Given the description of an element on the screen output the (x, y) to click on. 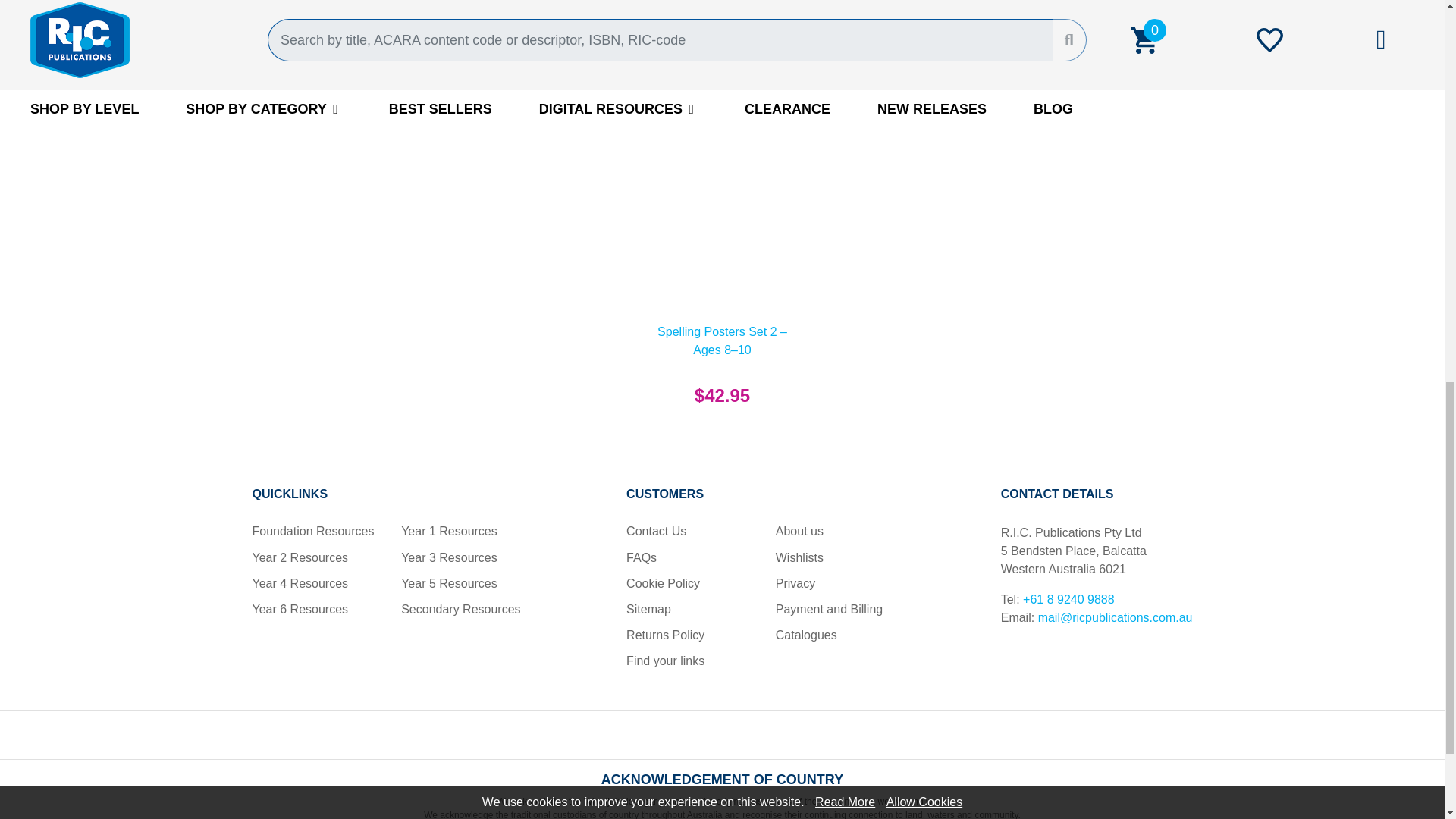
Wishlists (800, 557)
Year 5 Resources (449, 583)
Sitemap (648, 608)
Secondary Resources (460, 608)
Cookie Policy (663, 583)
Privacy (795, 583)
Year 3 Resources (449, 557)
FAQs (641, 557)
Foundation Resources (312, 530)
Contact Us (655, 530)
